Given the description of an element on the screen output the (x, y) to click on. 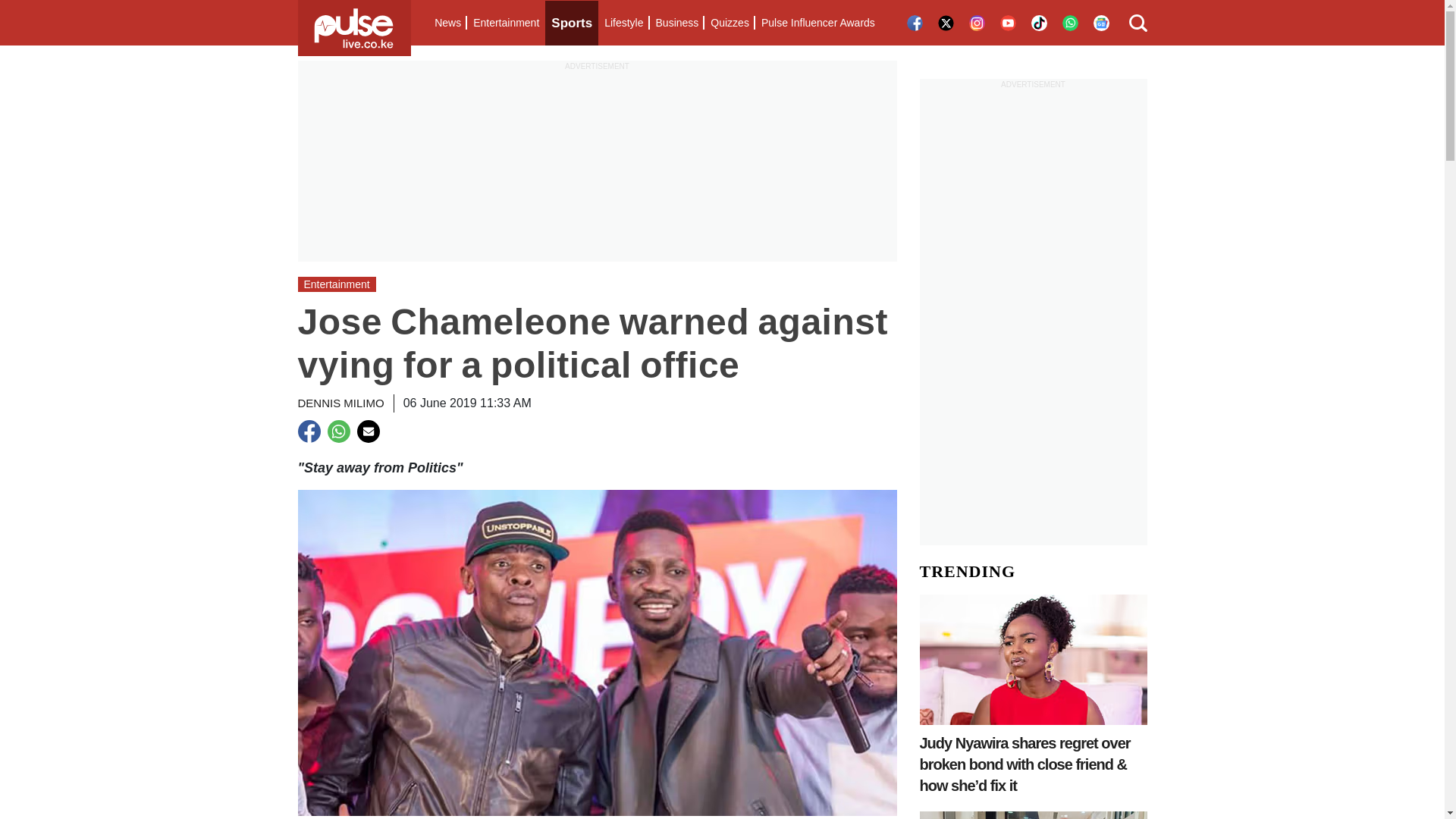
Quizzes (729, 22)
Lifestyle (623, 22)
Sports (571, 22)
Business (676, 22)
Entertainment (505, 22)
Pulse Influencer Awards (817, 22)
